Given the description of an element on the screen output the (x, y) to click on. 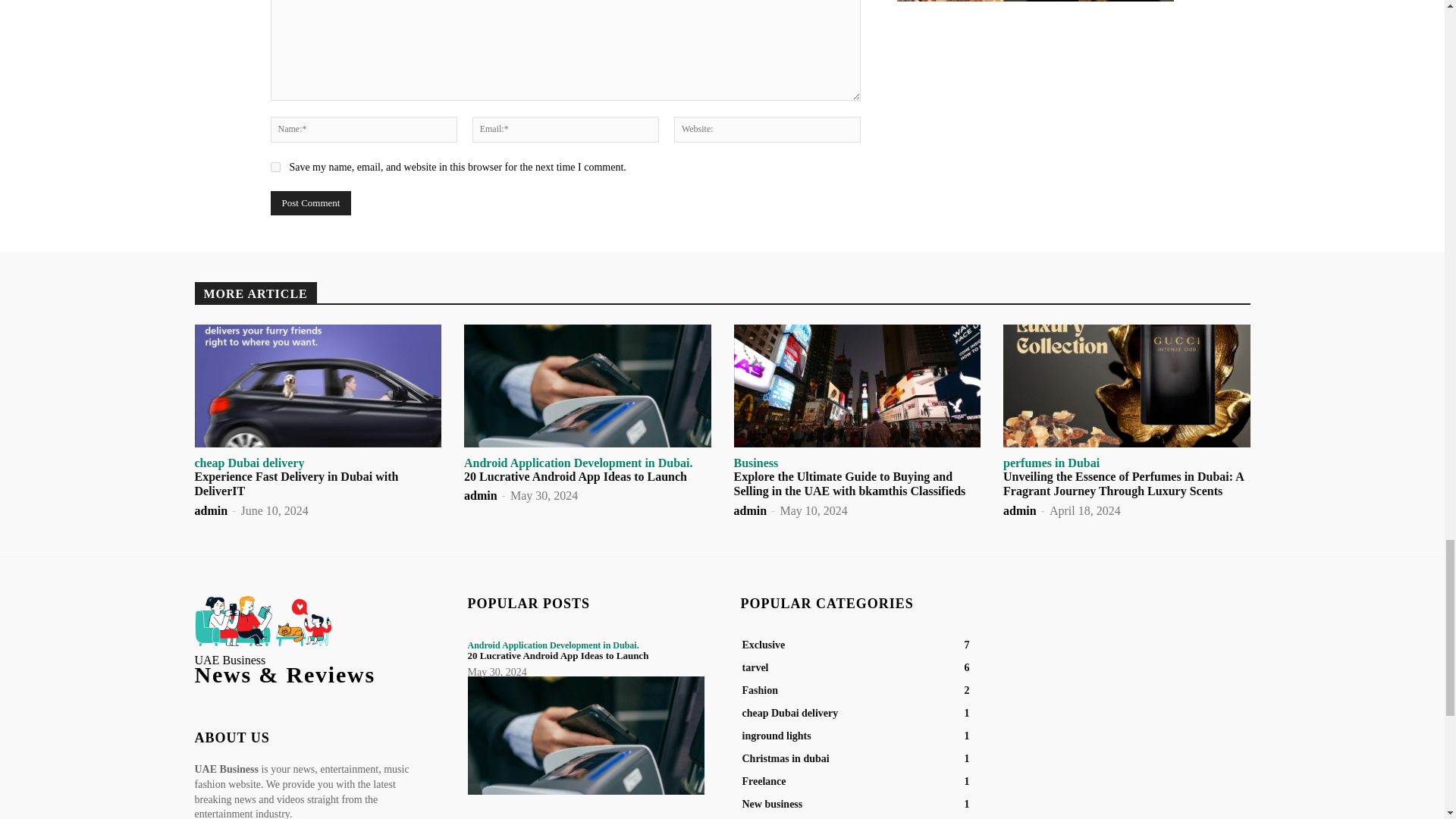
Post Comment (309, 202)
yes (274, 166)
